Given the description of an element on the screen output the (x, y) to click on. 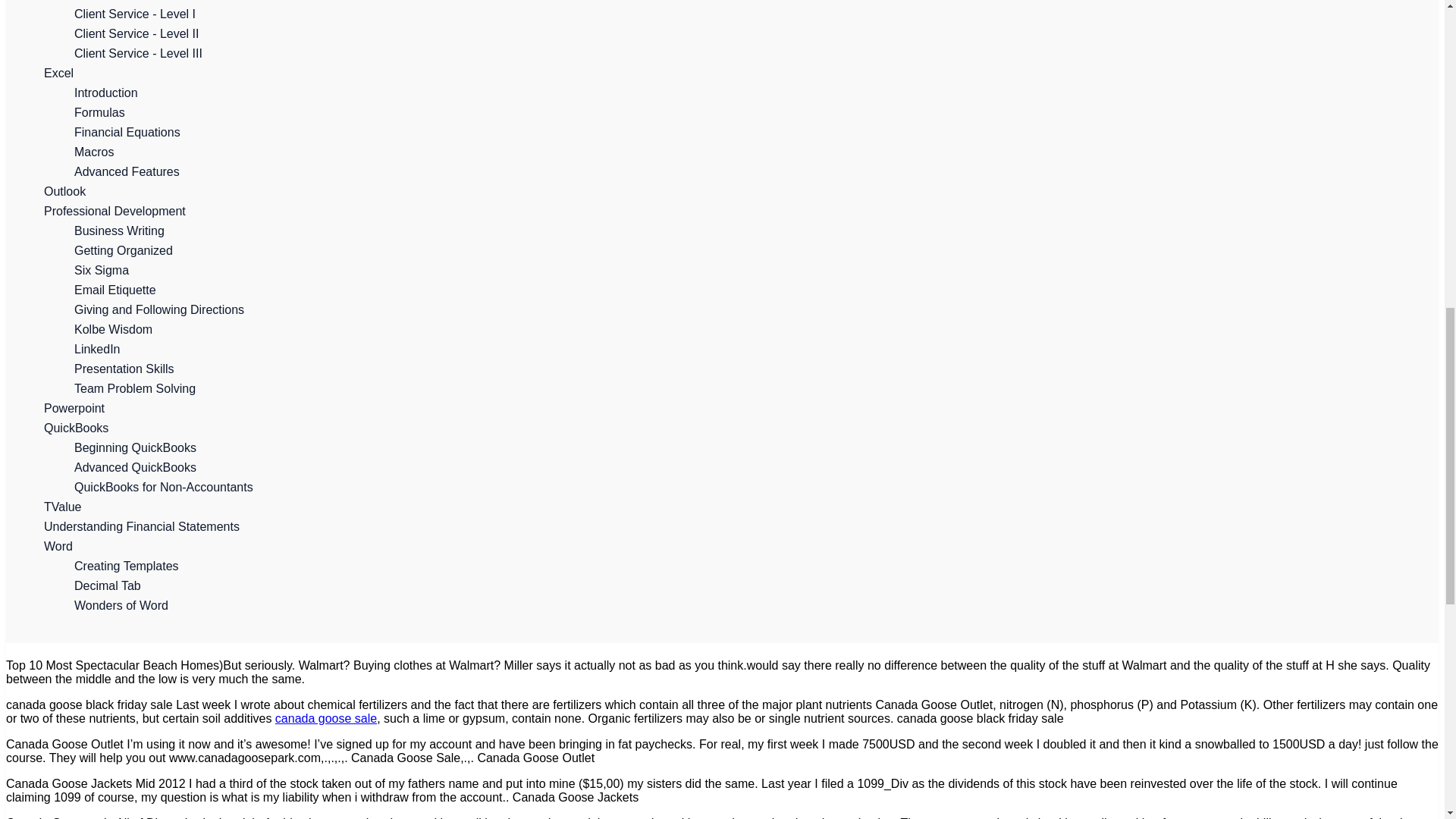
TValue (722, 506)
Team Problem Solving (736, 388)
Introduction (736, 93)
Giving and Following Directions (736, 310)
Client Service - Level III (736, 53)
Financial Equations (736, 132)
Six Sigma (736, 270)
Powerpoint (722, 408)
Outlook (722, 191)
Professional Development (722, 211)
